Given the description of an element on the screen output the (x, y) to click on. 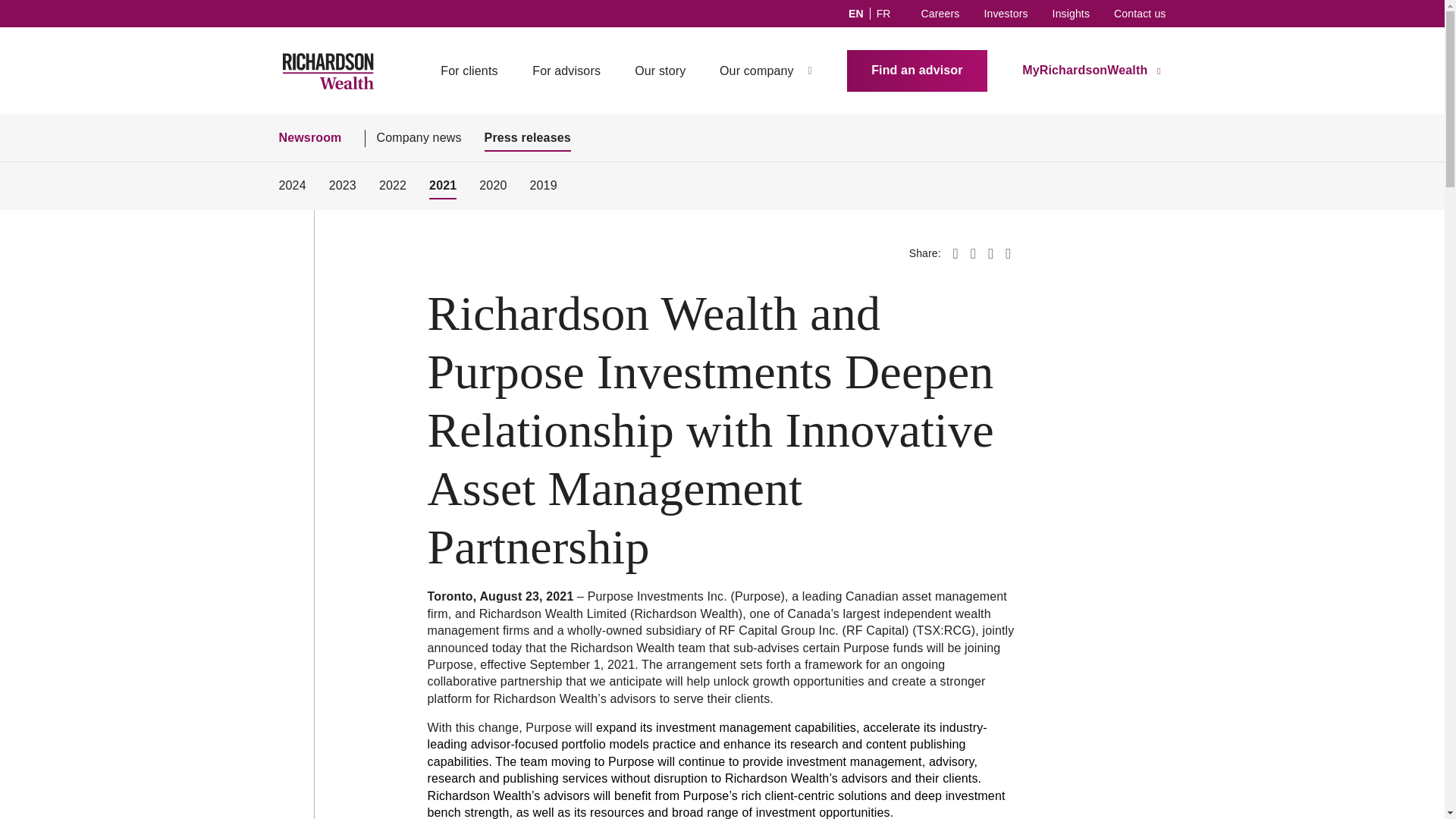
Careers (940, 13)
Careers (940, 13)
Insights (1070, 13)
For advisors (566, 70)
EN (856, 13)
Contact us (1139, 13)
Search (808, 70)
Insights (1070, 13)
Contact us (1139, 13)
FR (883, 13)
